Given the description of an element on the screen output the (x, y) to click on. 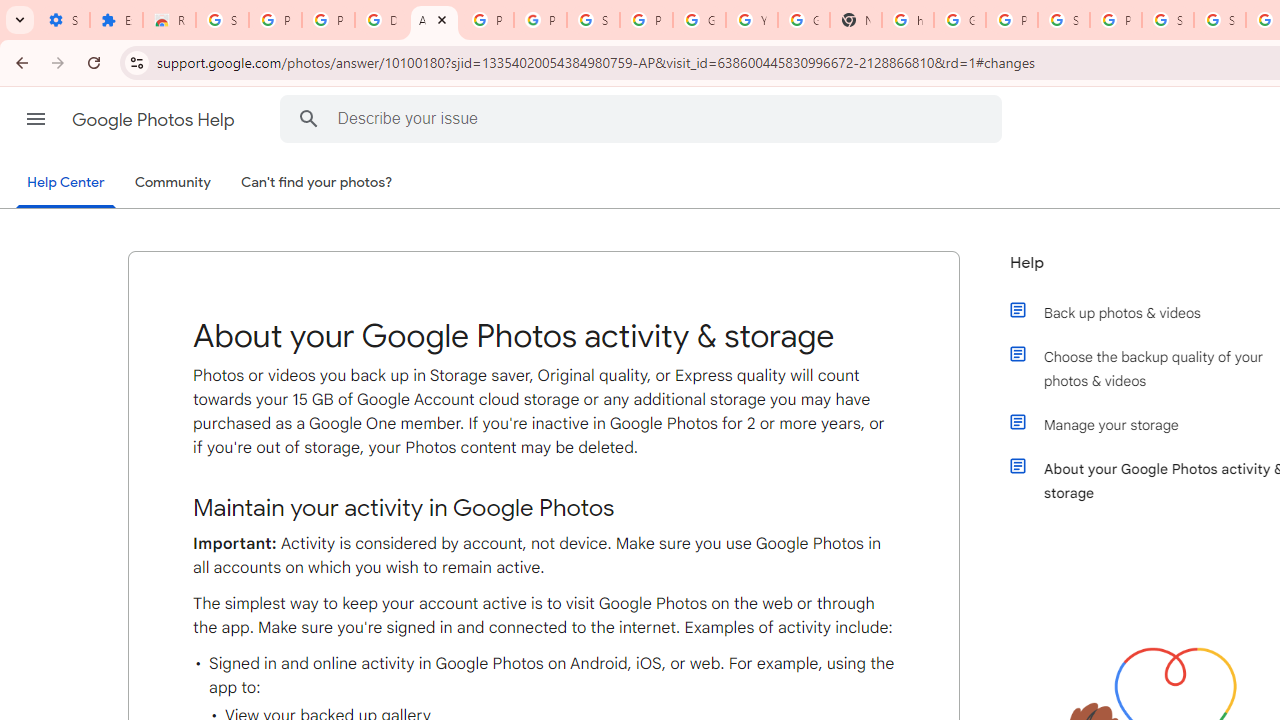
Help Center (65, 183)
Can't find your photos? (317, 183)
Describe your issue (644, 118)
Google Account (699, 20)
Search Help Center (309, 118)
